Given the description of an element on the screen output the (x, y) to click on. 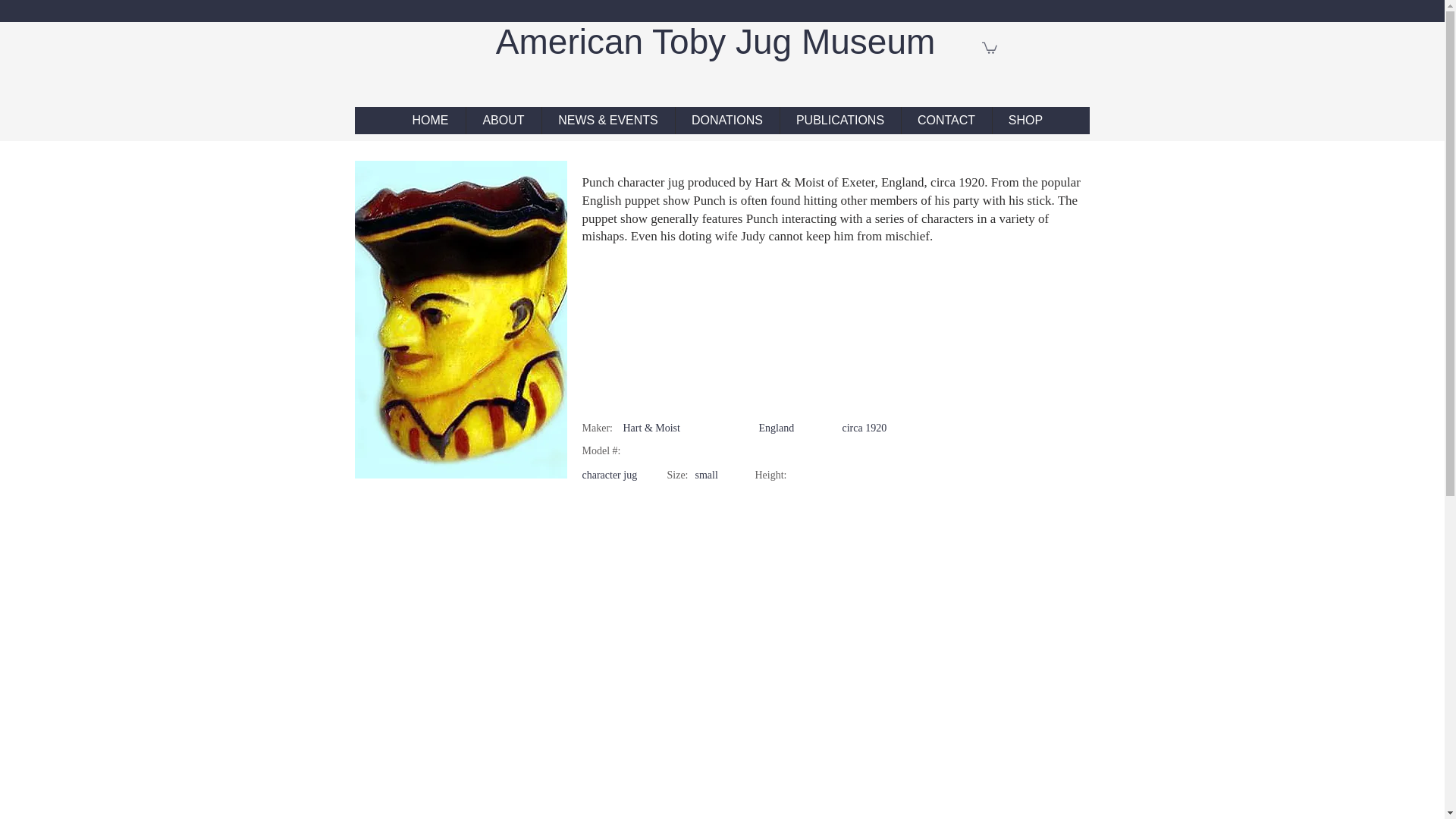
HOME (430, 120)
SHOP (1024, 120)
ABOUT (502, 120)
DONATIONS (726, 120)
PUBLICATIONS (838, 120)
American Toby Jug Museum  (720, 41)
CONTACT (946, 120)
